Given the description of an element on the screen output the (x, y) to click on. 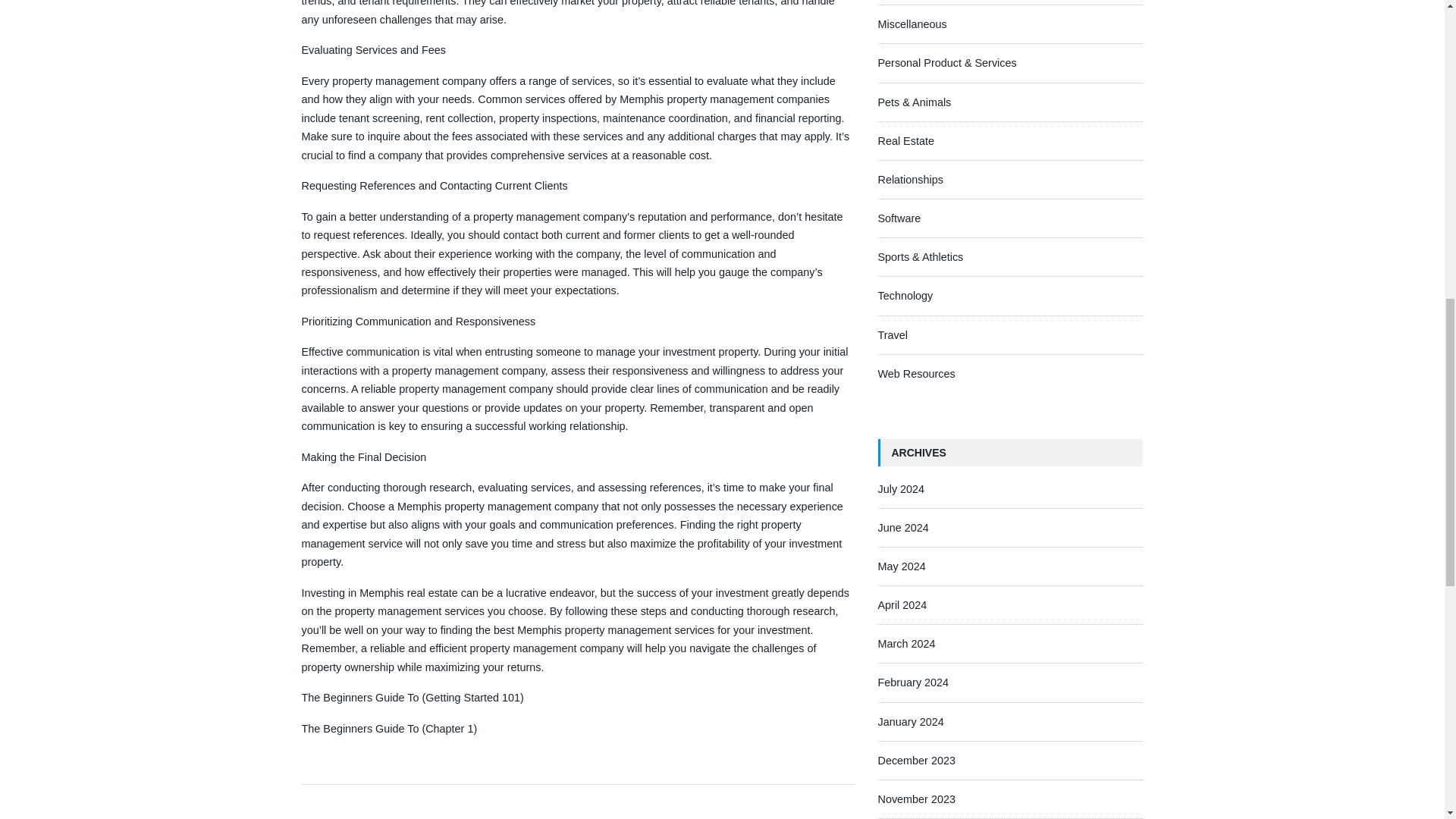
Software (899, 218)
April 2024 (902, 604)
Real Estate (905, 141)
Travel (892, 335)
Miscellaneous (912, 24)
May 2024 (901, 566)
Web Resources (916, 373)
Relationships (910, 179)
July 2024 (900, 489)
June 2024 (902, 527)
Technology (905, 295)
